Given the description of an element on the screen output the (x, y) to click on. 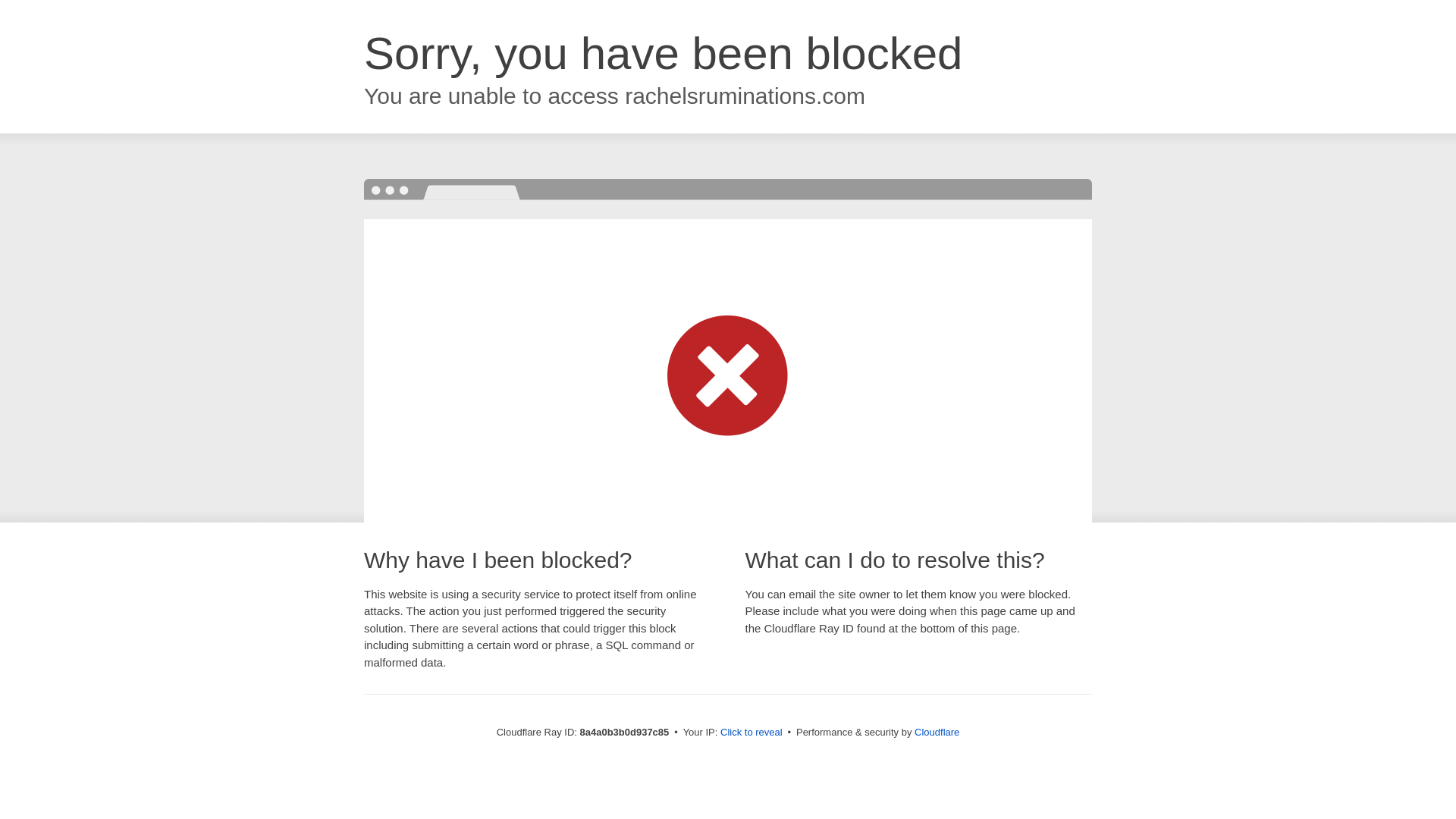
Cloudflare (936, 731)
Click to reveal (751, 732)
